Given the description of an element on the screen output the (x, y) to click on. 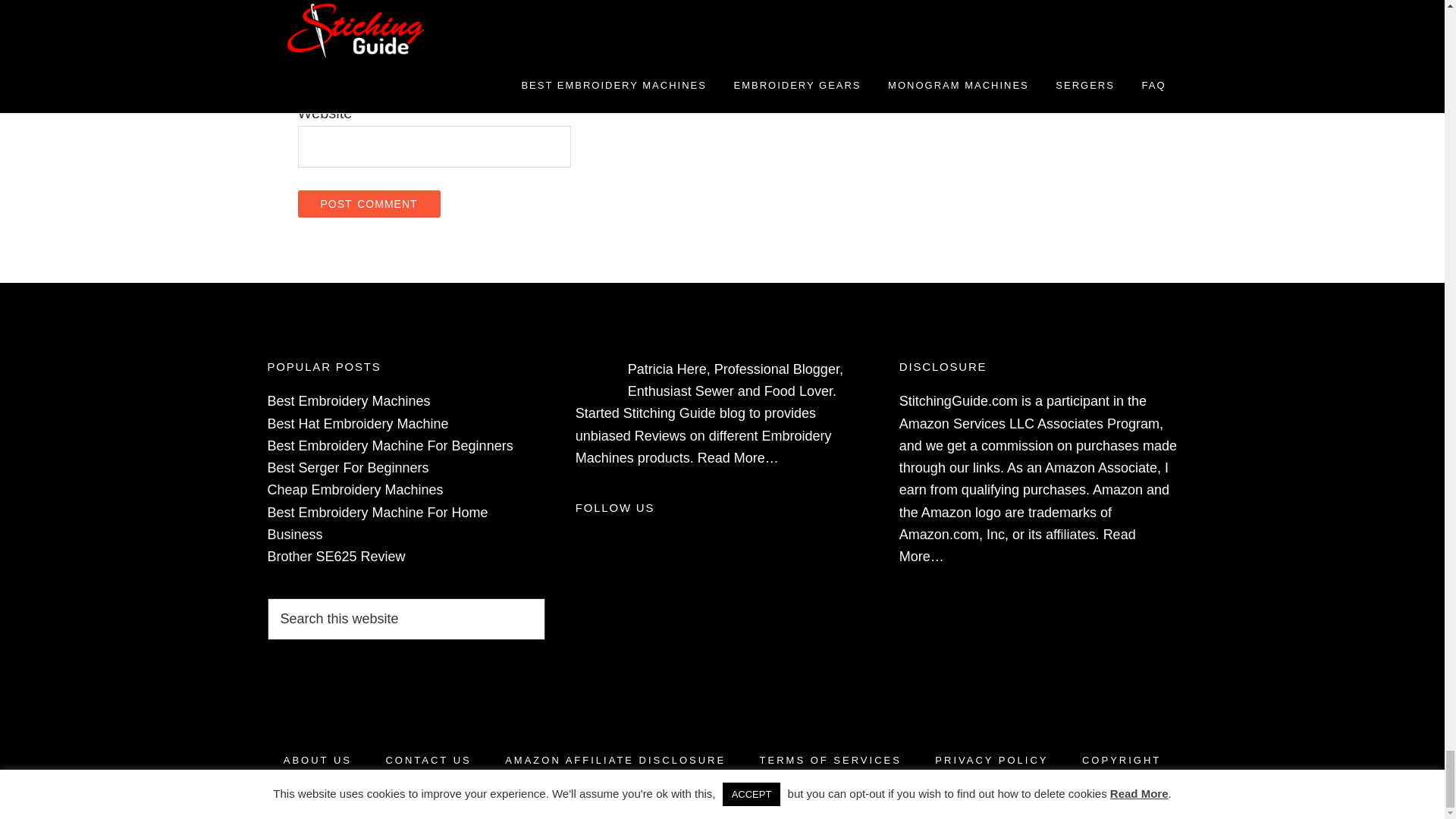
Post Comment (368, 203)
